Given the description of an element on the screen output the (x, y) to click on. 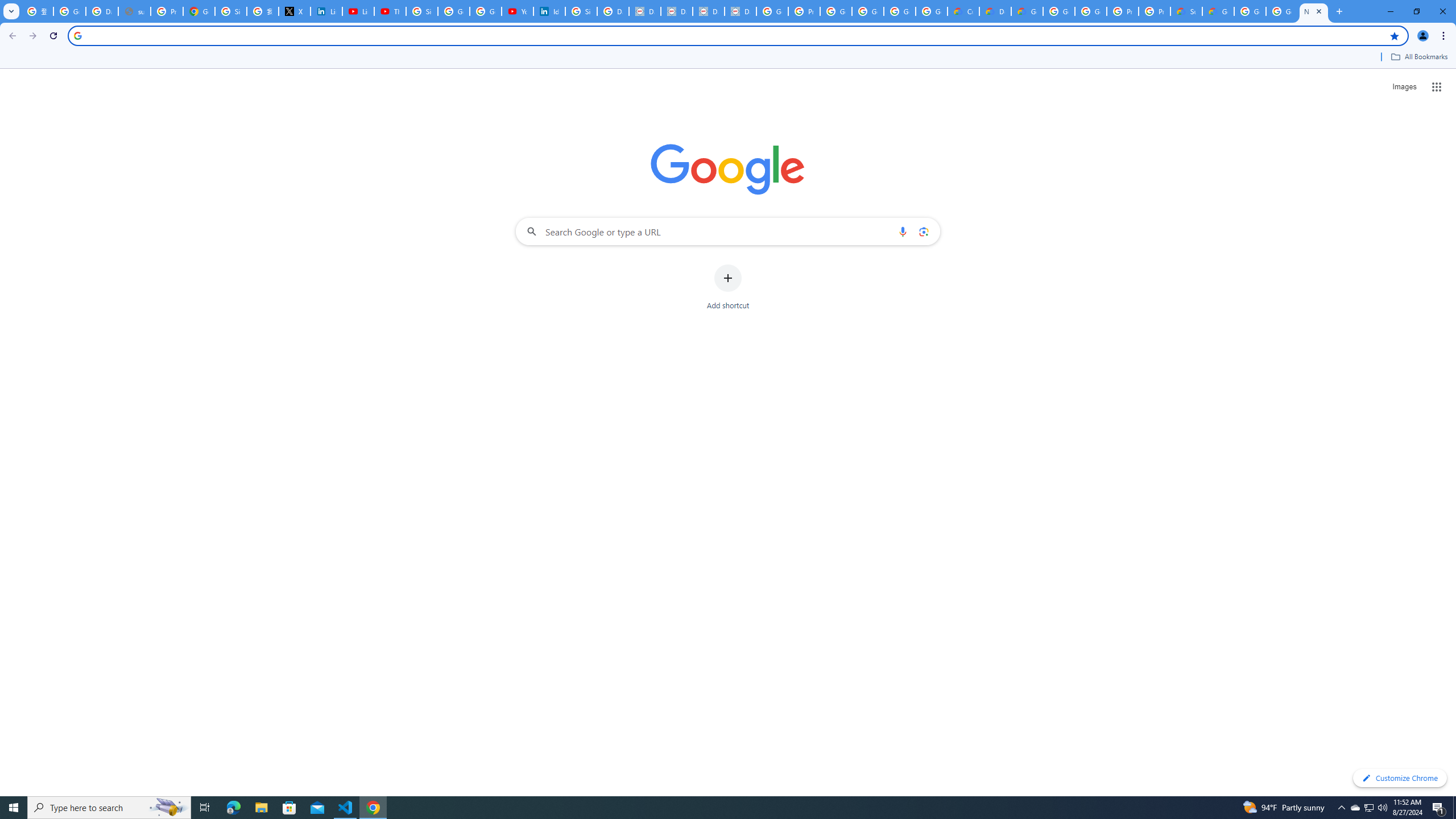
Google Cloud Platform (1281, 11)
LinkedIn Privacy Policy (326, 11)
Data Privacy Framework (708, 11)
Support Hub | Google Cloud (1185, 11)
Sign in - Google Accounts (421, 11)
